Given the description of an element on the screen output the (x, y) to click on. 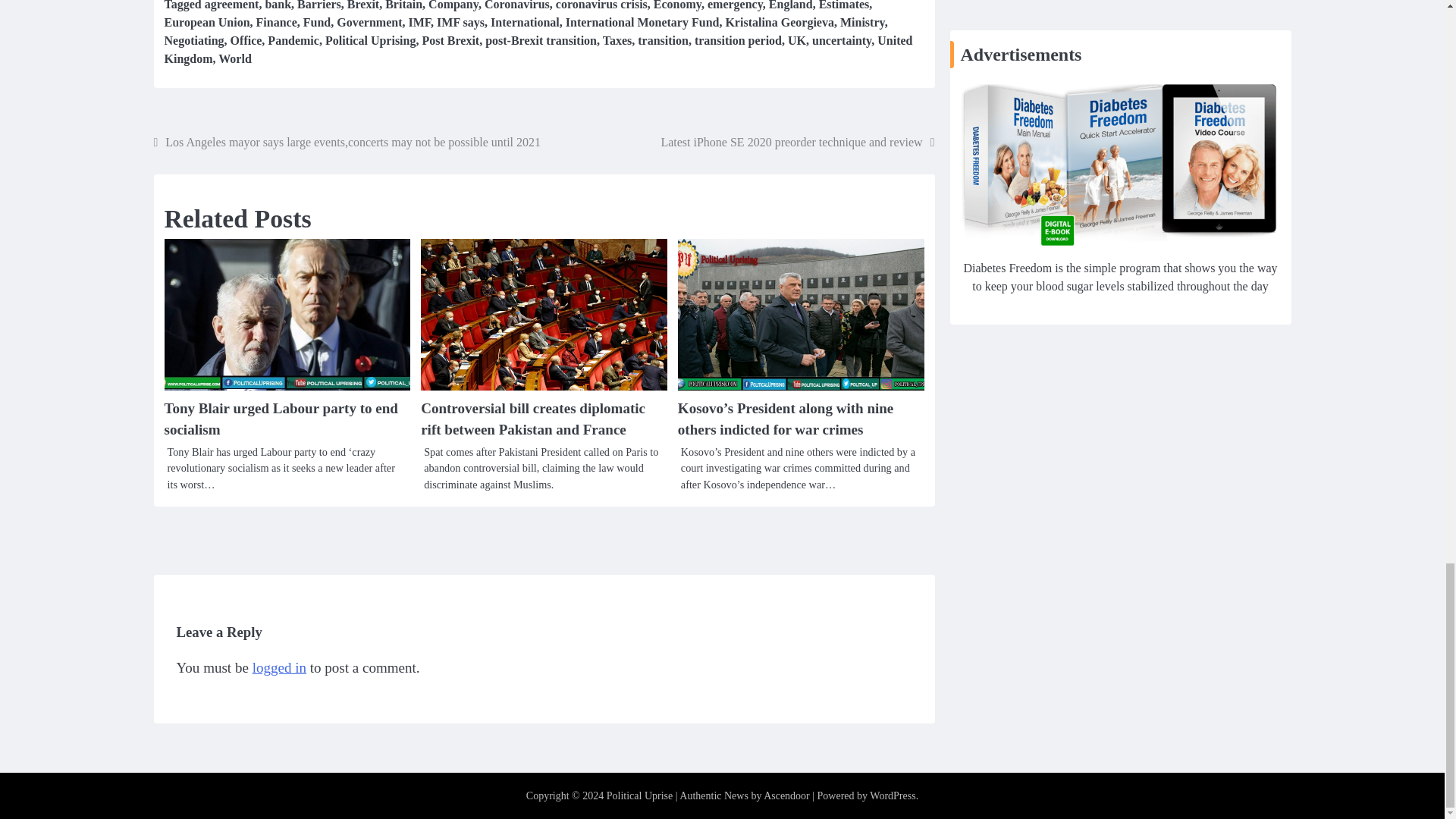
Finance (276, 21)
Britain (403, 5)
Coronavirus (517, 5)
England (790, 5)
Company (453, 5)
Fund (316, 21)
Estimates (843, 5)
bank (277, 5)
Barriers (318, 5)
Brexit (362, 5)
